Given the description of an element on the screen output the (x, y) to click on. 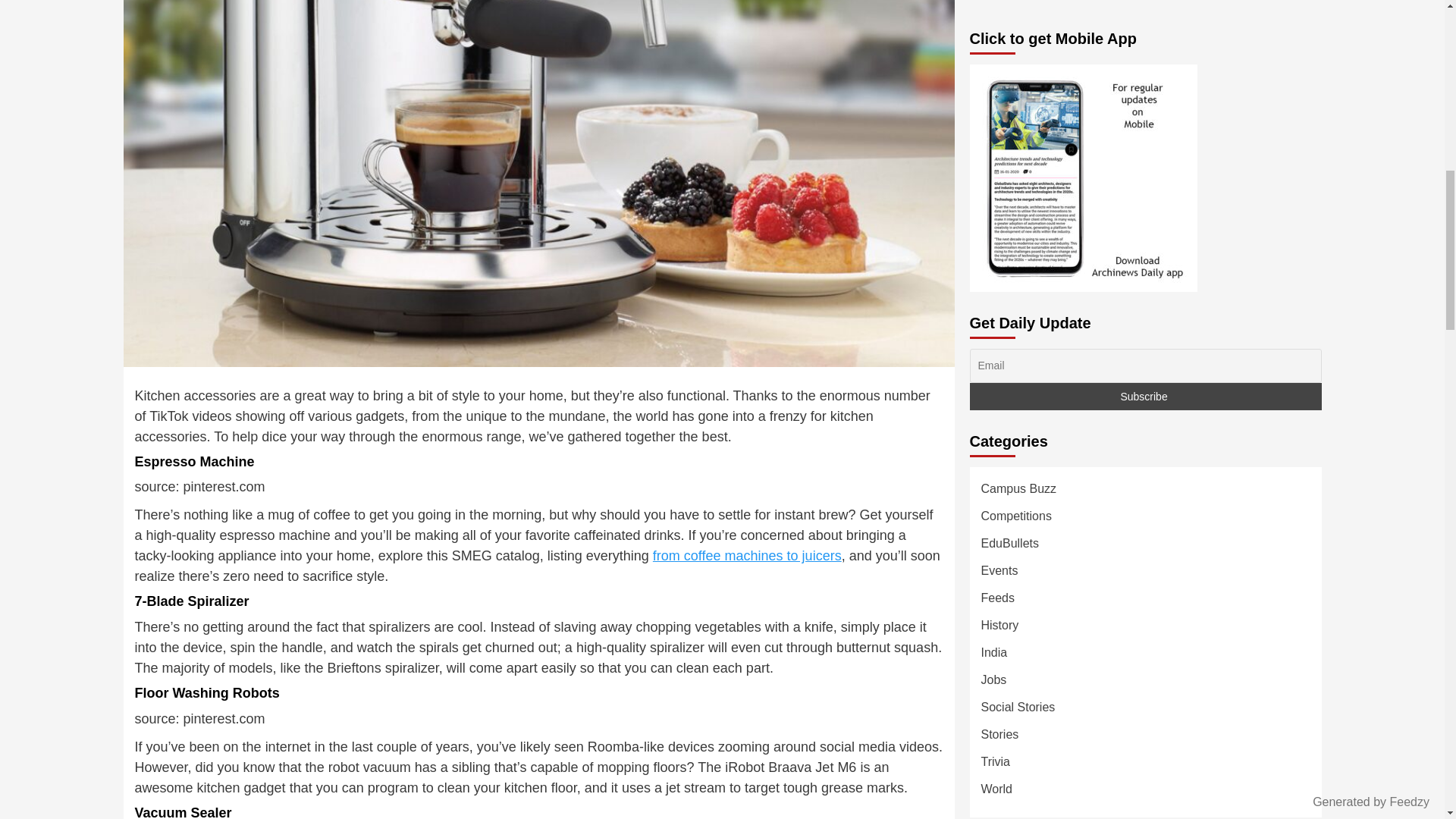
from coffee machines to juicers (746, 555)
